Given the description of an element on the screen output the (x, y) to click on. 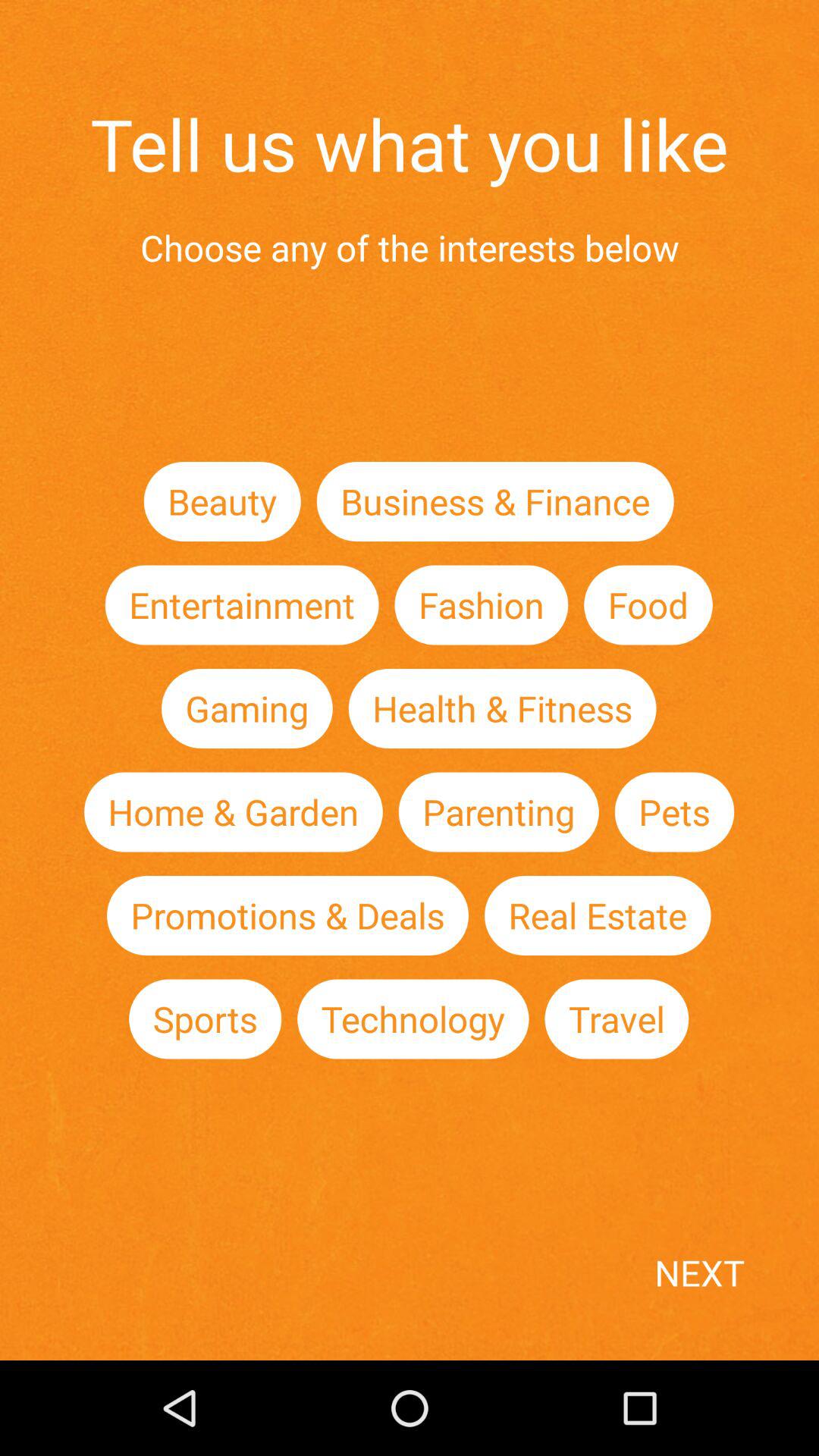
swipe until the travel icon (616, 1019)
